Given the description of an element on the screen output the (x, y) to click on. 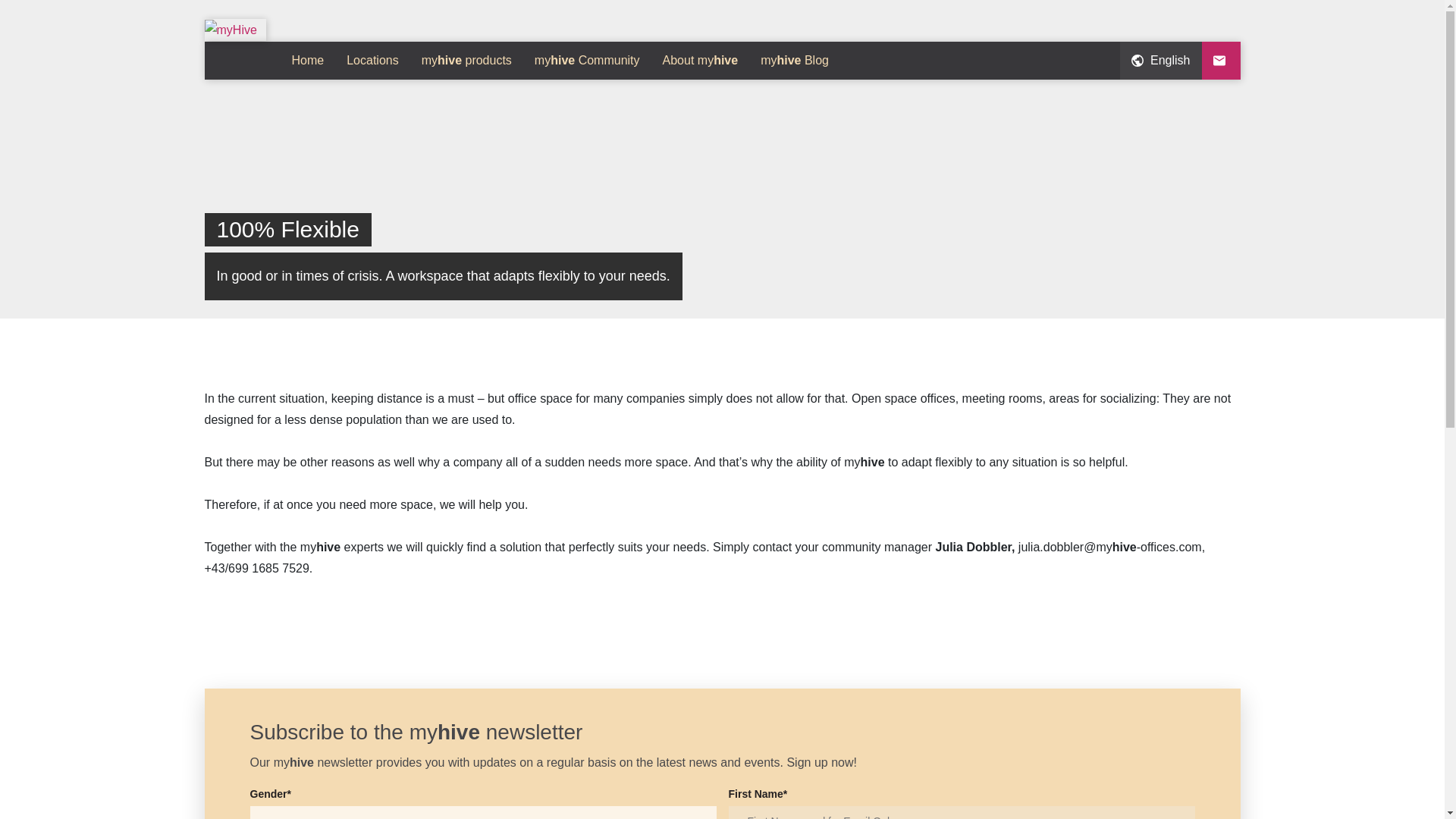
myhive products (466, 60)
Home (308, 60)
myHive (231, 29)
English (1160, 60)
Locations (372, 60)
myhive Community (586, 60)
About myhive (699, 60)
myhive Blog (794, 60)
